Given the description of an element on the screen output the (x, y) to click on. 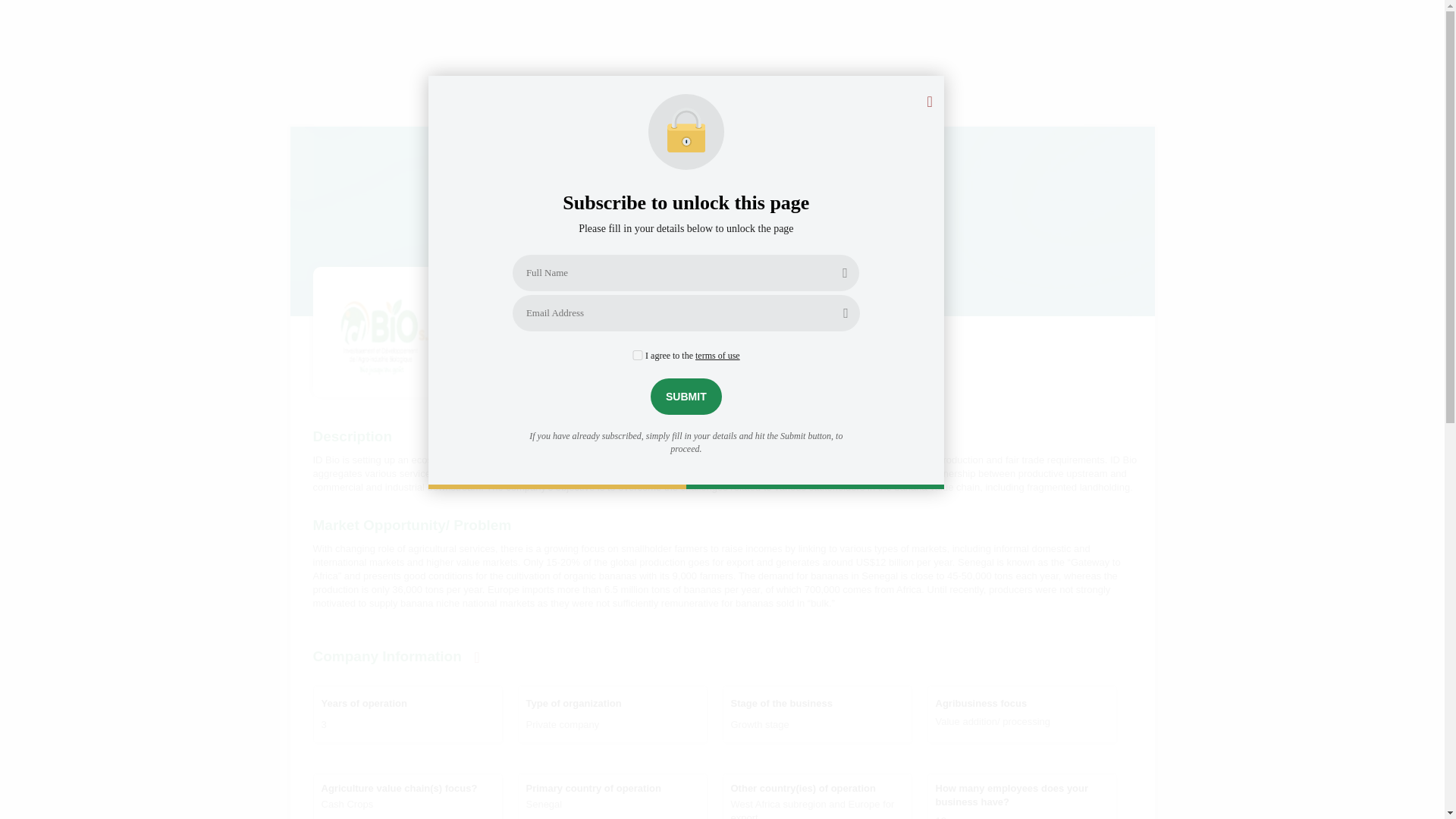
Submit (686, 396)
on (637, 355)
